Given the description of an element on the screen output the (x, y) to click on. 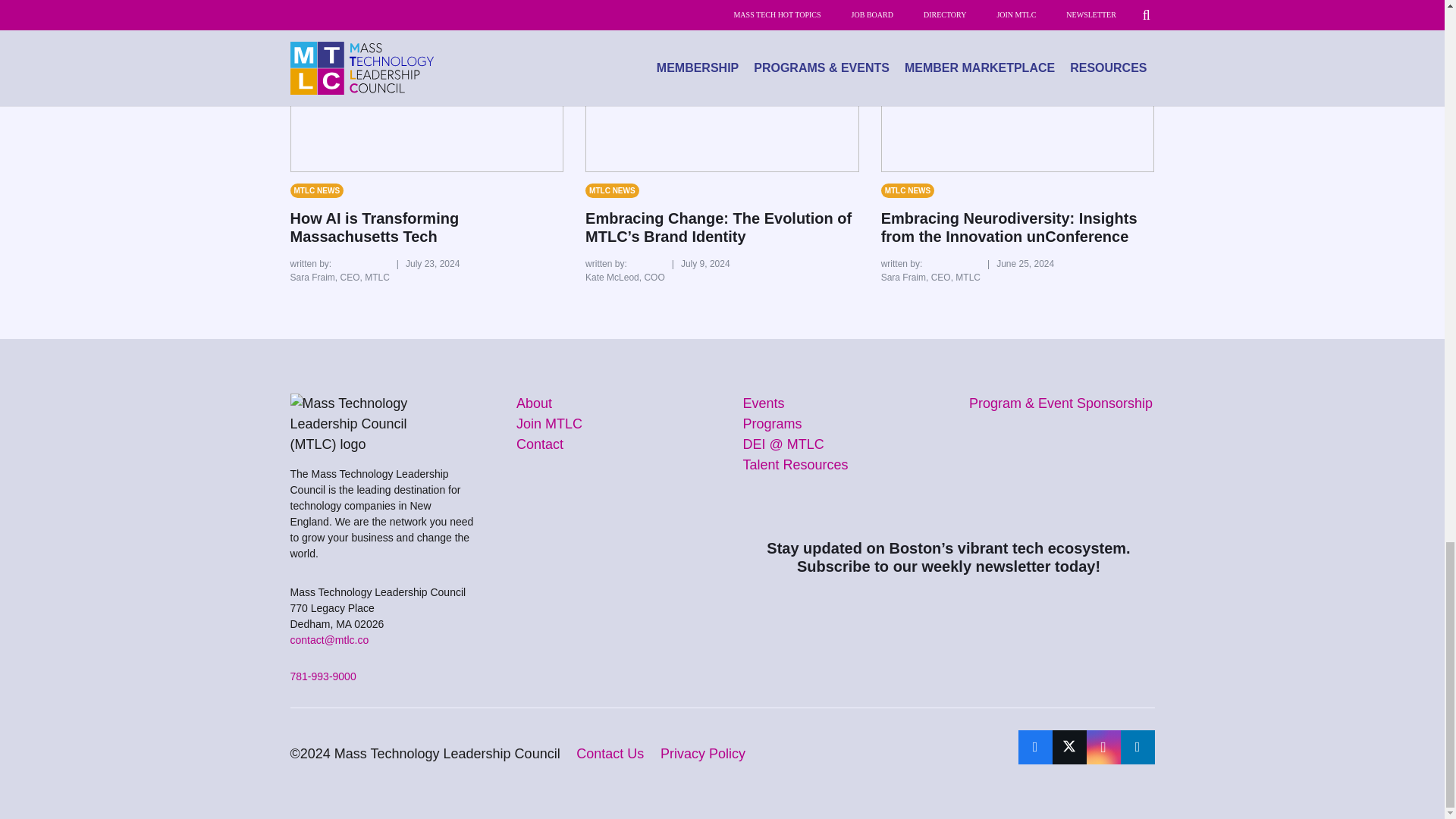
Instagram (1102, 747)
LinkedIn (1137, 747)
Facebook (1034, 747)
Twitter (1069, 747)
